Given the description of an element on the screen output the (x, y) to click on. 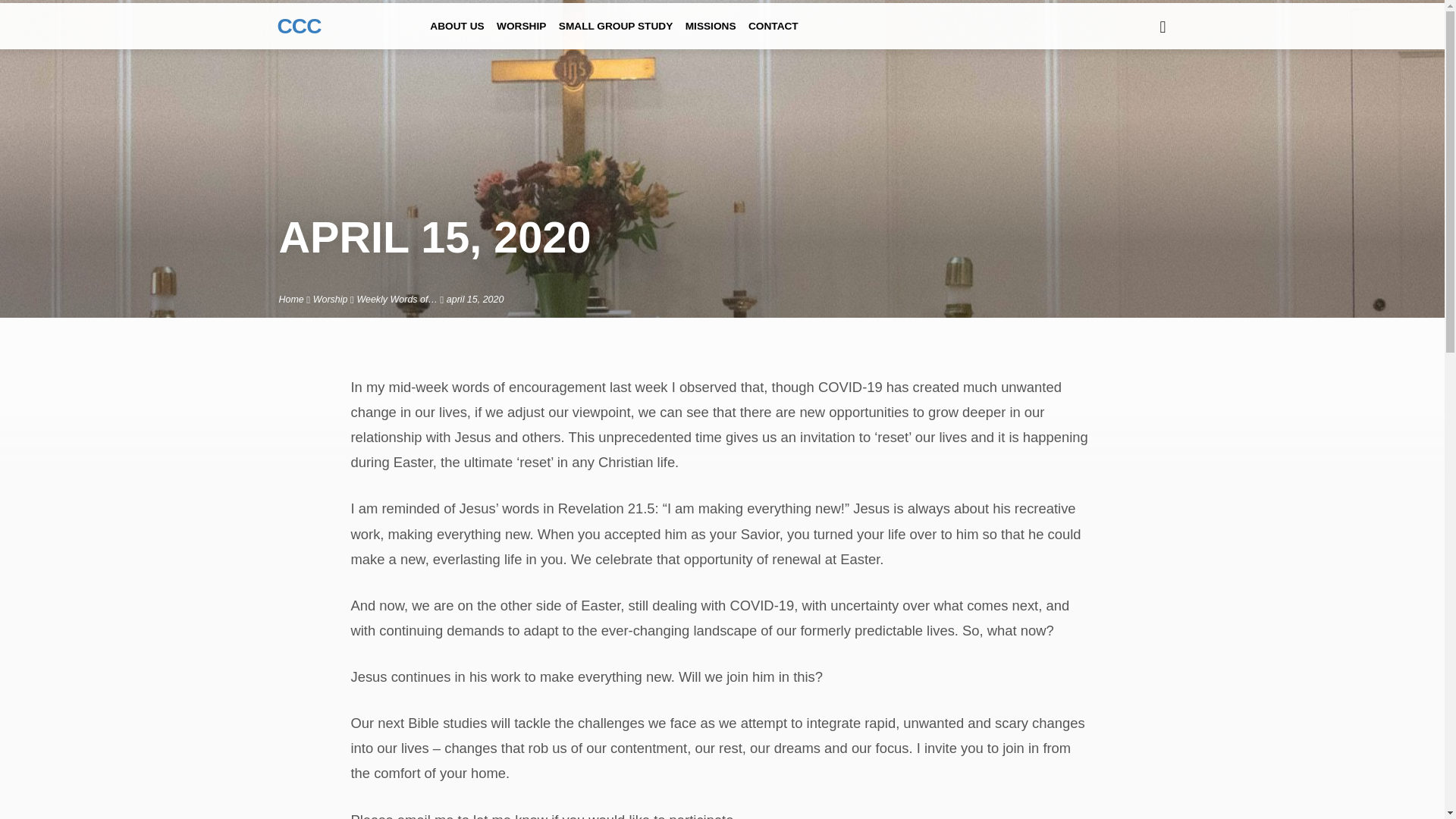
MISSIONS (710, 35)
Home (291, 299)
WORSHIP (521, 35)
CCC (299, 24)
april 15, 2020 (474, 299)
CONTACT (772, 35)
Worship (330, 299)
SMALL GROUP STUDY (615, 35)
ABOUT US (456, 35)
